Given the description of an element on the screen output the (x, y) to click on. 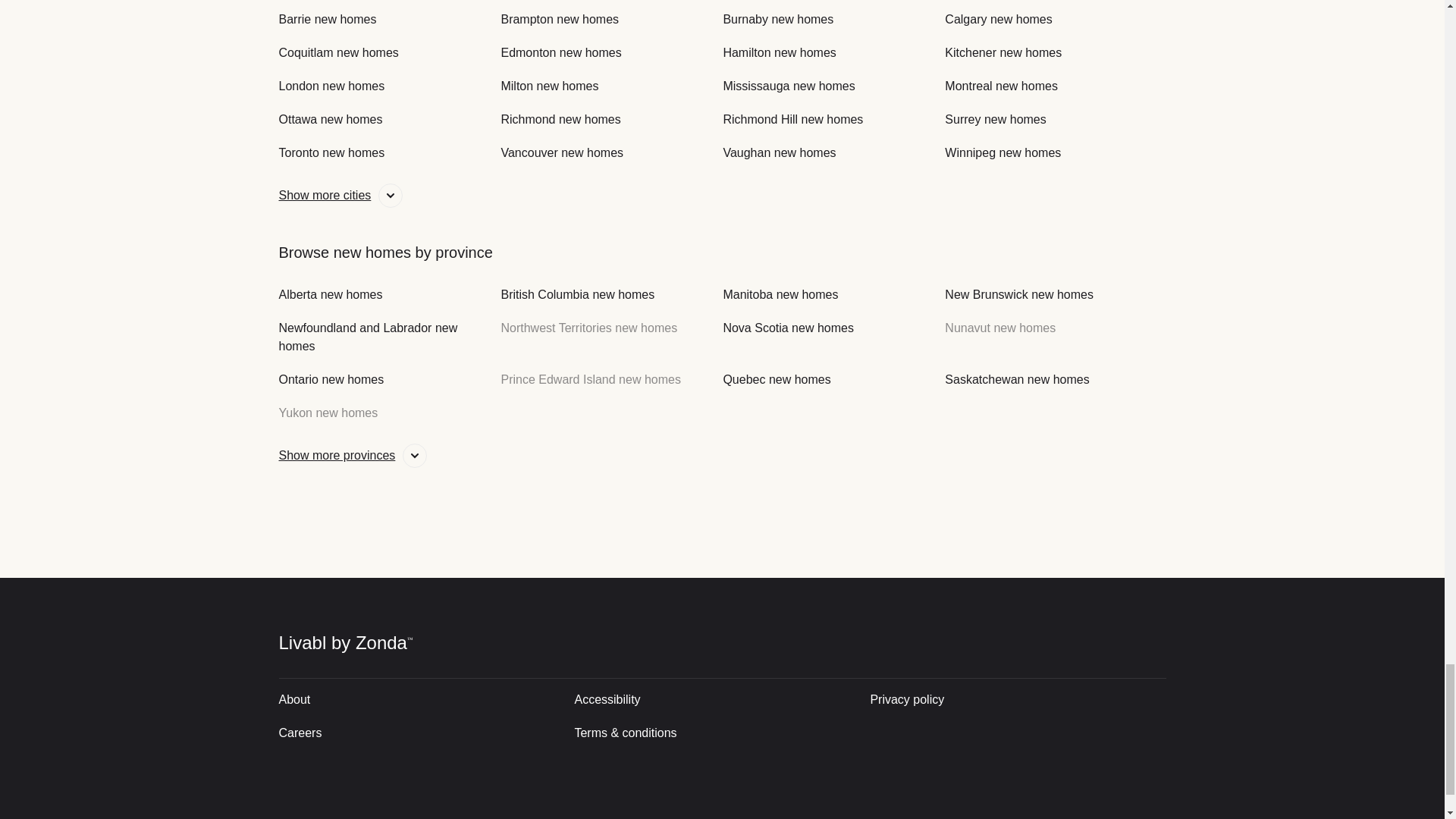
Instagram (1045, 815)
Pinterest (1150, 815)
Twitter (991, 815)
Facebook (1098, 815)
